Given the description of an element on the screen output the (x, y) to click on. 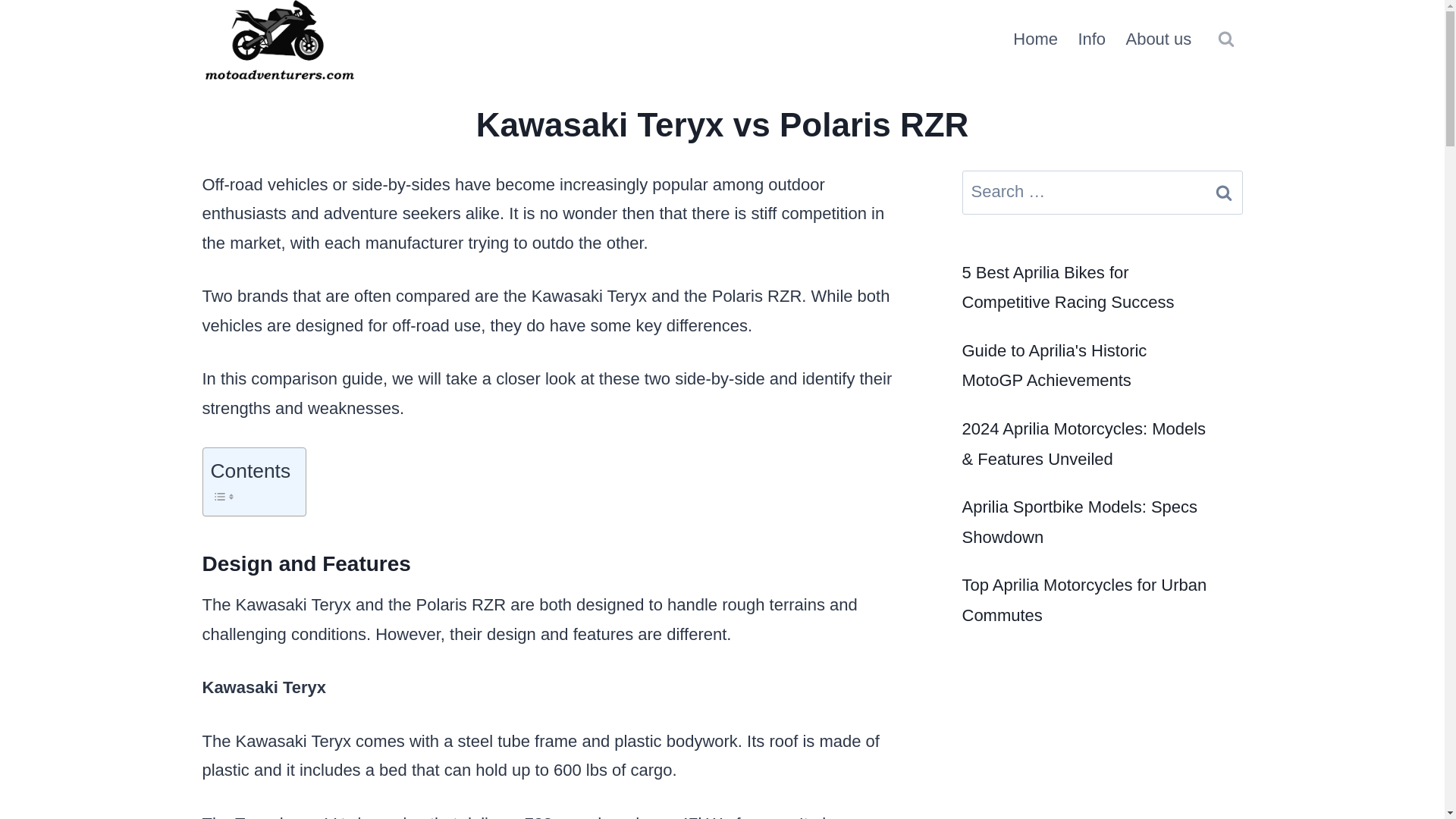
Home (1035, 39)
Info (1091, 39)
About us (1158, 39)
